Given the description of an element on the screen output the (x, y) to click on. 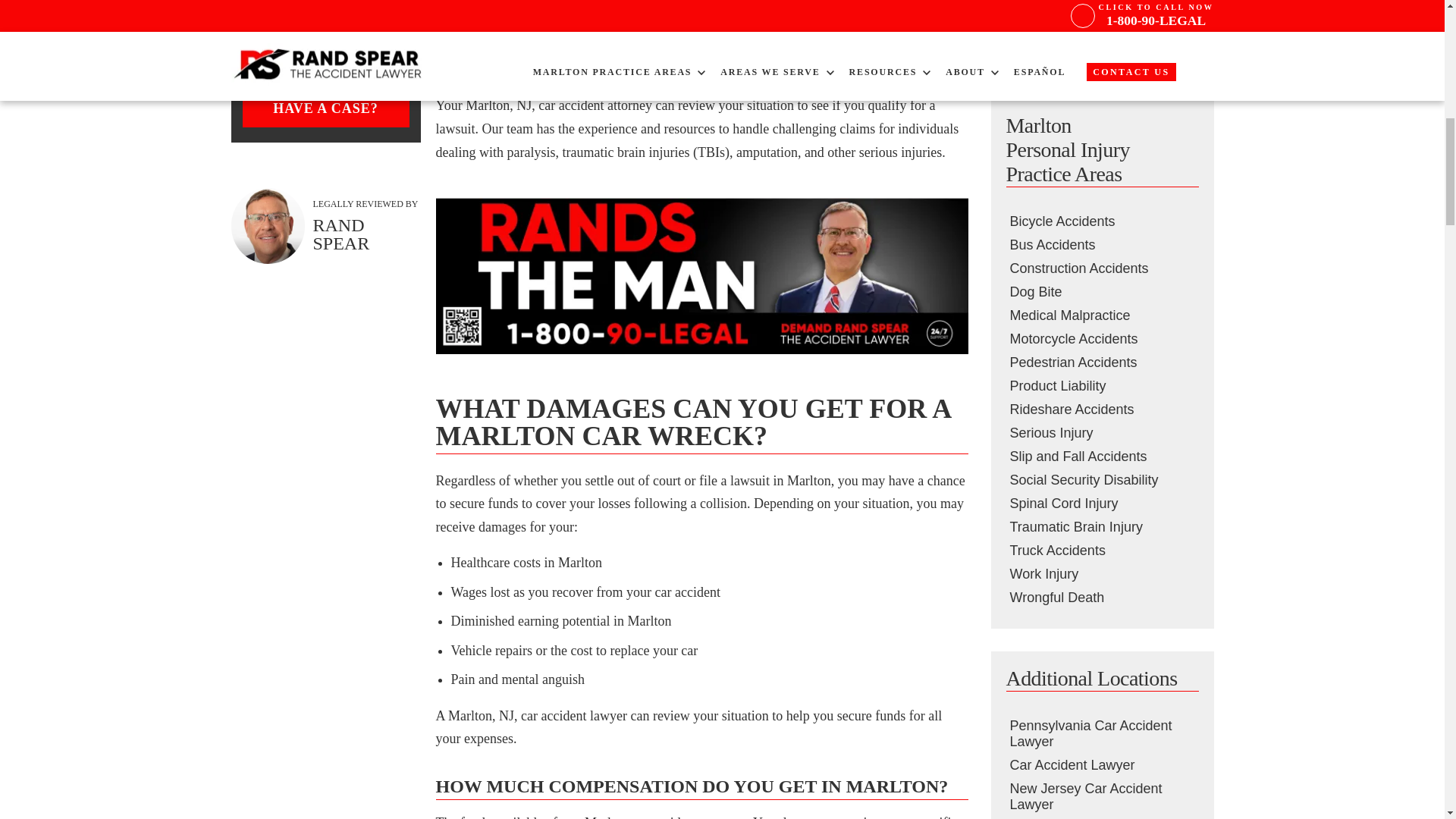
Rand Spear (267, 225)
HAVE A CASE? (326, 108)
Submit Form (1101, 41)
Rands The Man (701, 275)
